Given the description of an element on the screen output the (x, y) to click on. 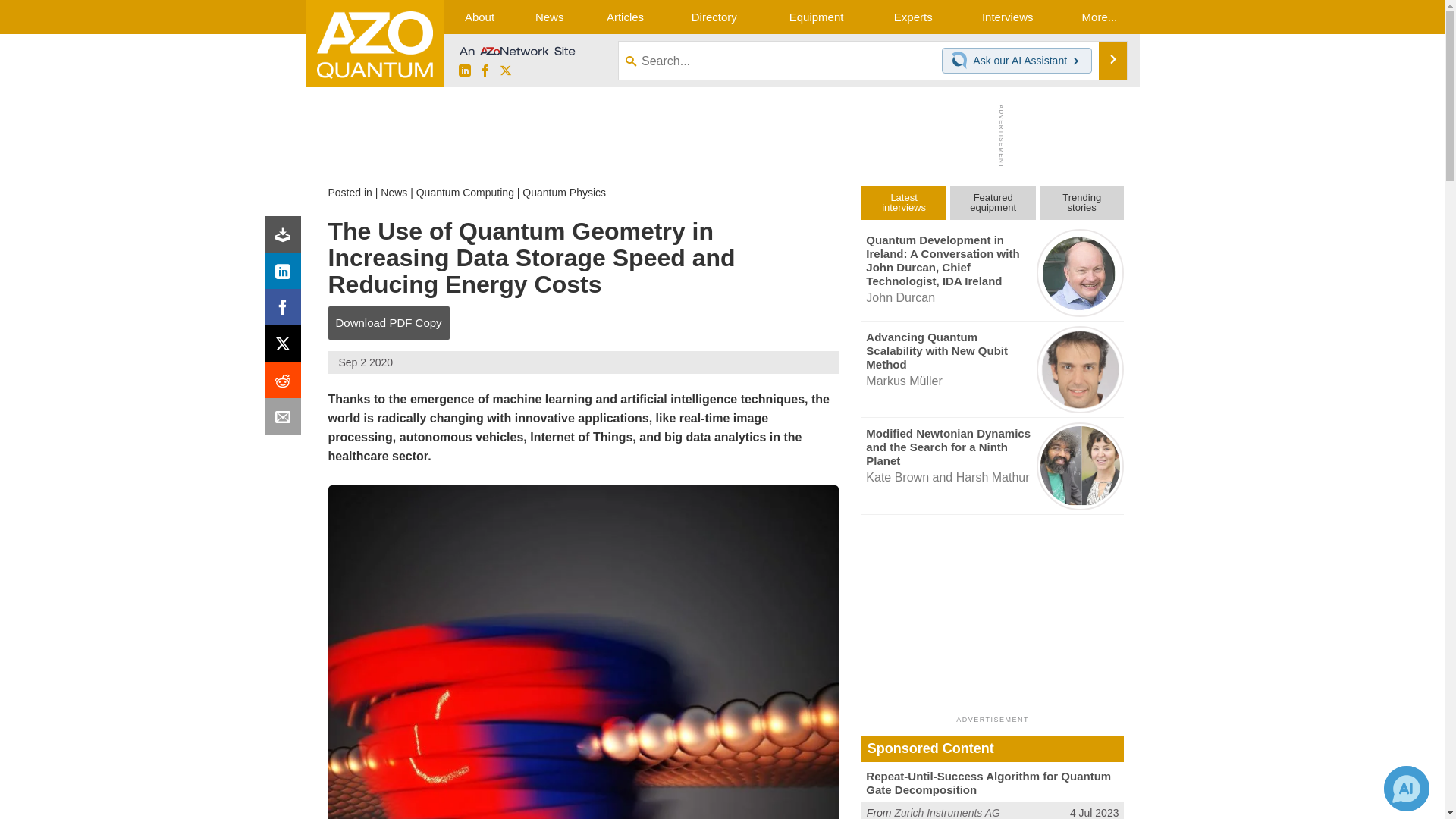
Quantum Physics (563, 192)
Interviews (1007, 17)
Download PDF copy (285, 238)
3rd party ad content (718, 136)
Chat with our AI Assistant Ask our AI Assistant (1017, 60)
Directory (713, 17)
Facebook (285, 311)
Experts (913, 17)
Chat with our AI Assistant (962, 60)
Quantum Computing (464, 192)
